Given the description of an element on the screen output the (x, y) to click on. 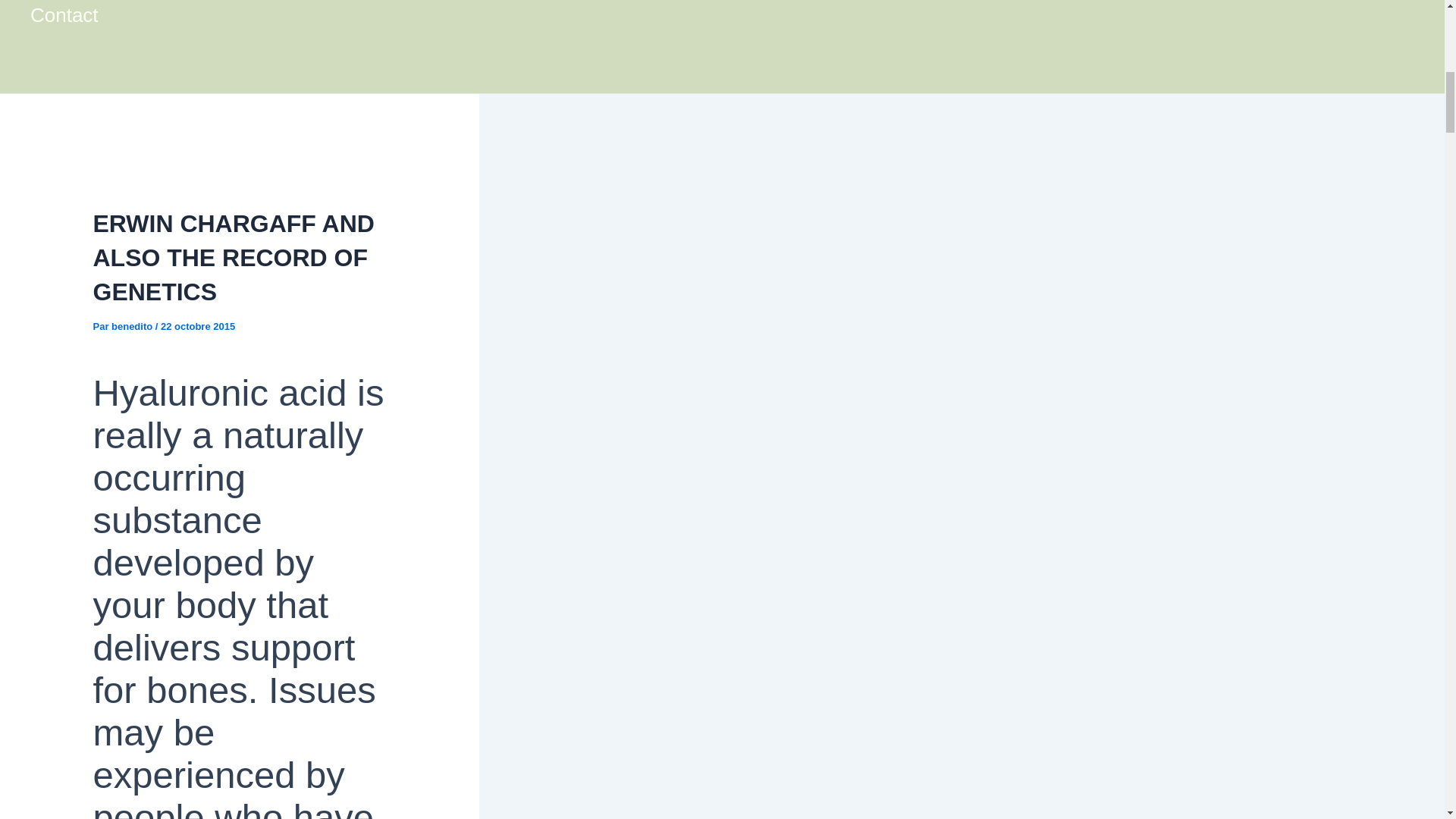
Voir toutes les publications de benedito (133, 326)
benedito (133, 326)
Contact (101, 28)
